Given the description of an element on the screen output the (x, y) to click on. 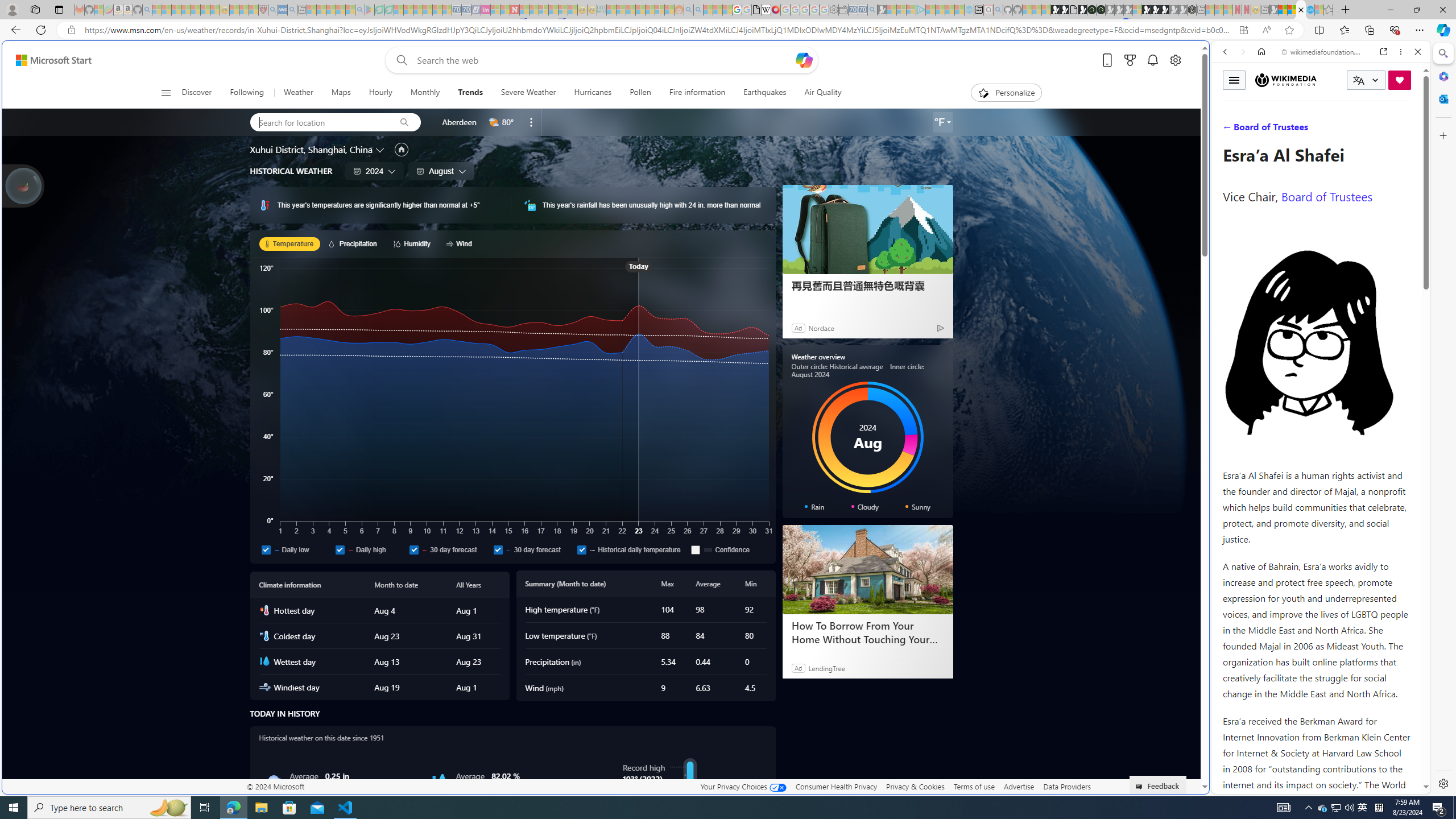
Daily high (339, 549)
30 day forecast (533, 549)
wikimediafoundation.org (1323, 51)
Daily low (295, 549)
Pollen (640, 92)
